Given the description of an element on the screen output the (x, y) to click on. 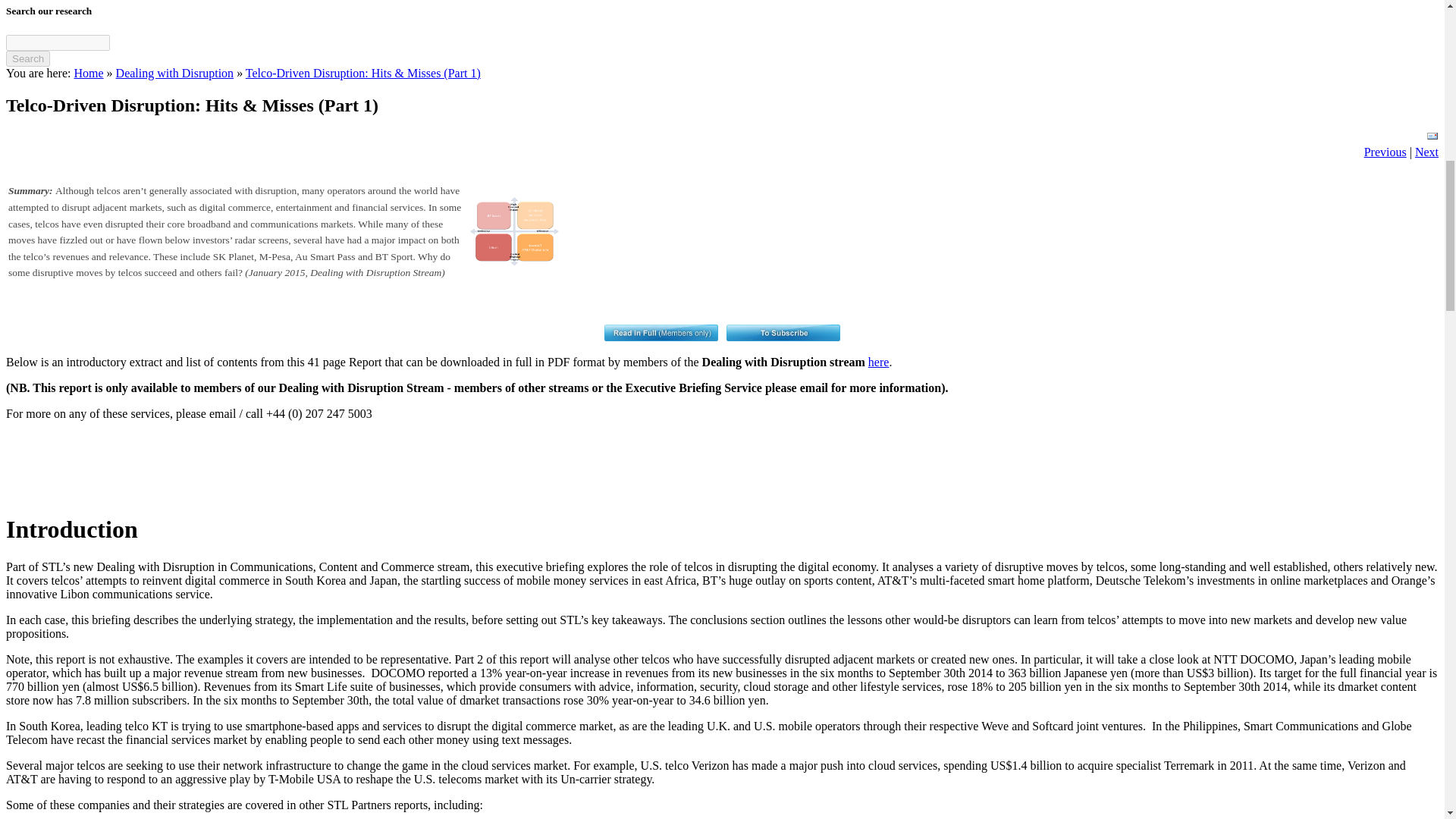
Home (88, 72)
here (878, 361)
Dealing with Disruption (175, 72)
Previous (1385, 151)
To Subscribe click here (783, 332)
Search (27, 58)
